Given the description of an element on the screen output the (x, y) to click on. 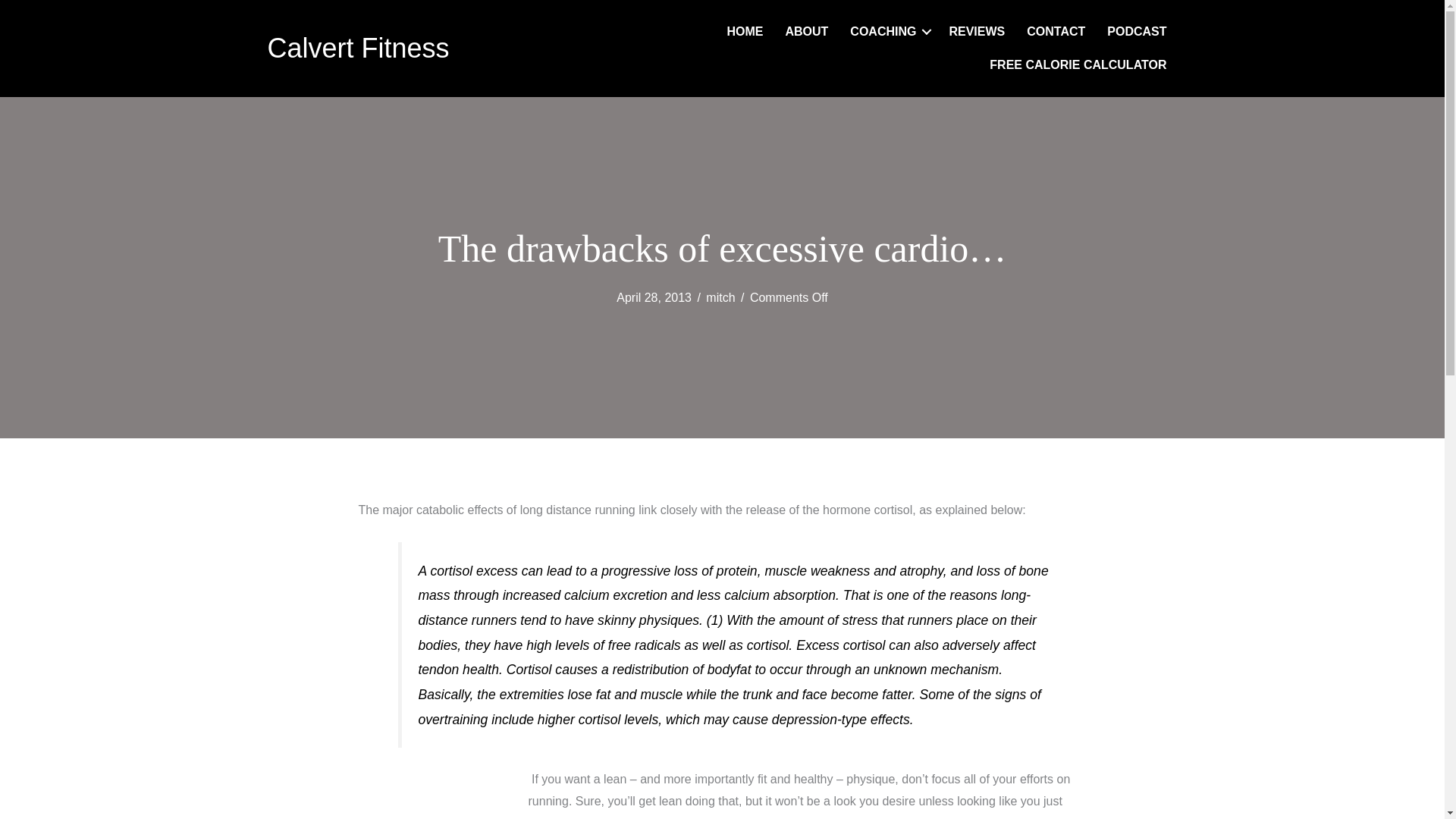
Calvert Fitness (357, 47)
PODCAST (1136, 31)
CONTACT (1056, 31)
FREE CALORIE CALCULATOR (1077, 64)
Calvert Fitness (357, 47)
REVIEWS (975, 31)
ABOUT (806, 31)
HOME (744, 31)
COACHING (888, 31)
mitch (720, 297)
